Given the description of an element on the screen output the (x, y) to click on. 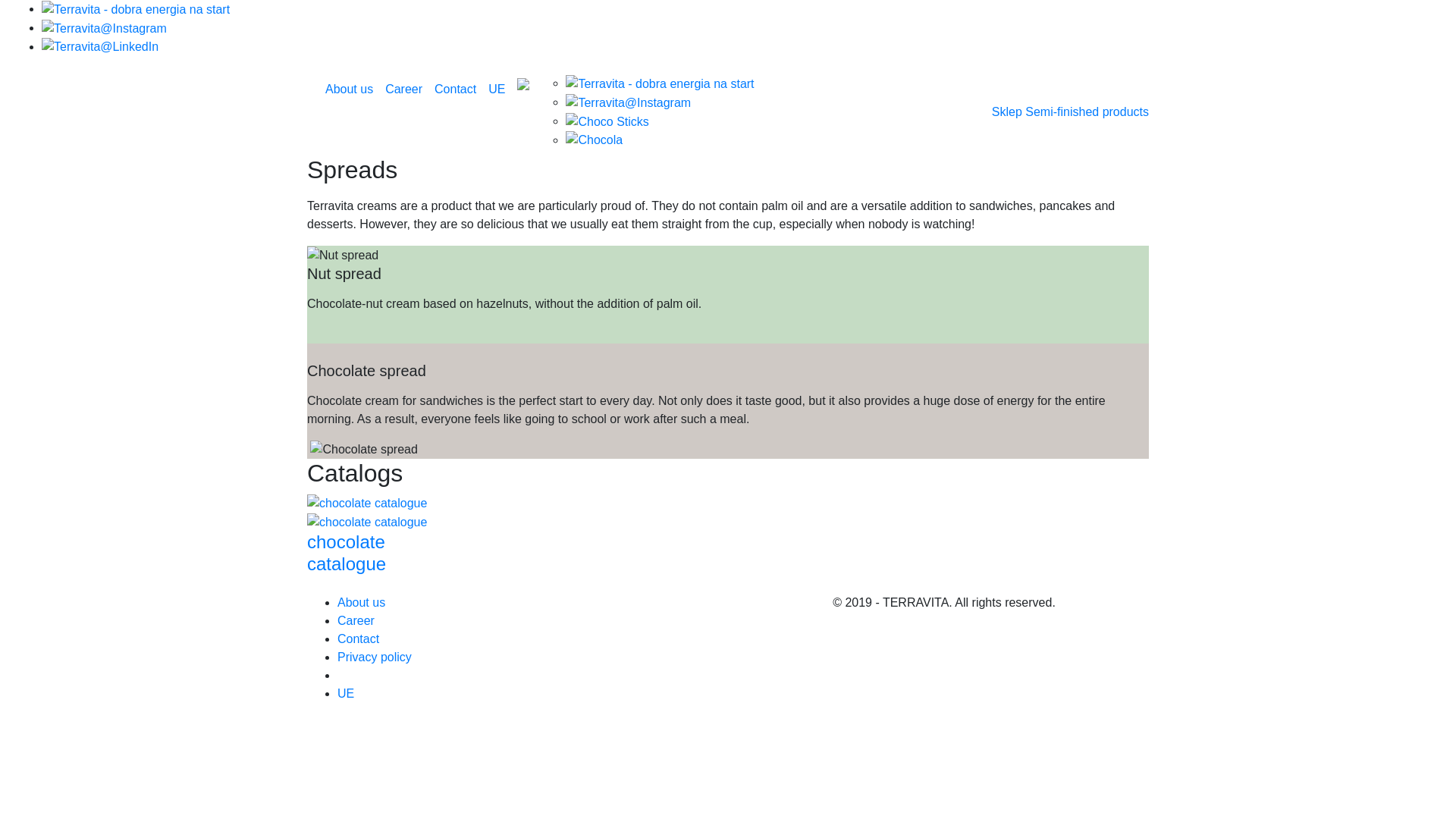
Privacy policy (374, 656)
Contact (454, 89)
Career (355, 620)
chocolate catalogue  (367, 535)
Sklep (1006, 111)
UE (345, 693)
About us (361, 602)
Contact (357, 638)
About us (348, 89)
chocolate catalogue (367, 535)
